Given the description of an element on the screen output the (x, y) to click on. 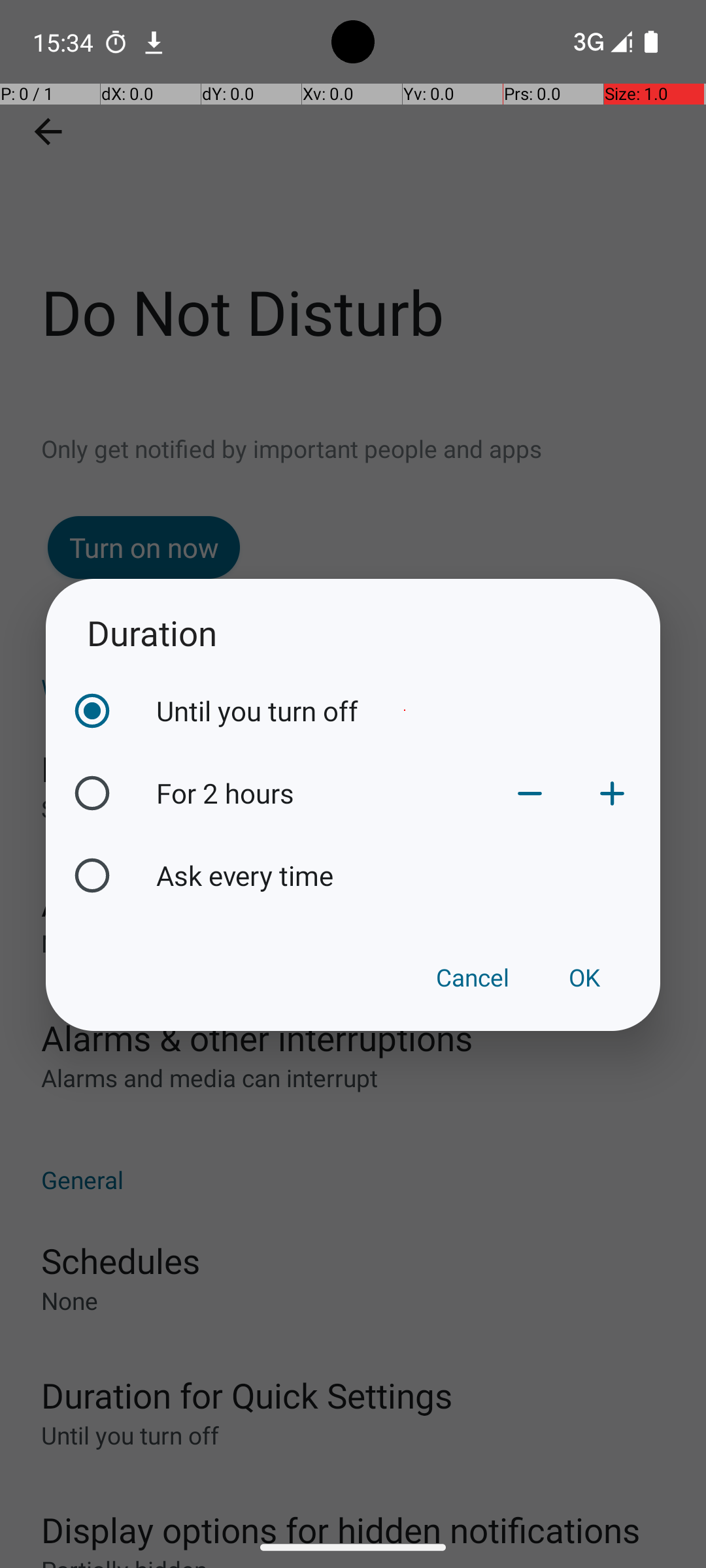
Duration Element type: android.widget.TextView (352, 632)
Less time. Element type: android.widget.ImageView (529, 792)
More time. Element type: android.widget.ImageView (611, 792)
For 2 hours Element type: android.widget.TextView (322, 792)
Ask every time Element type: android.widget.TextView (404, 874)
